Given the description of an element on the screen output the (x, y) to click on. 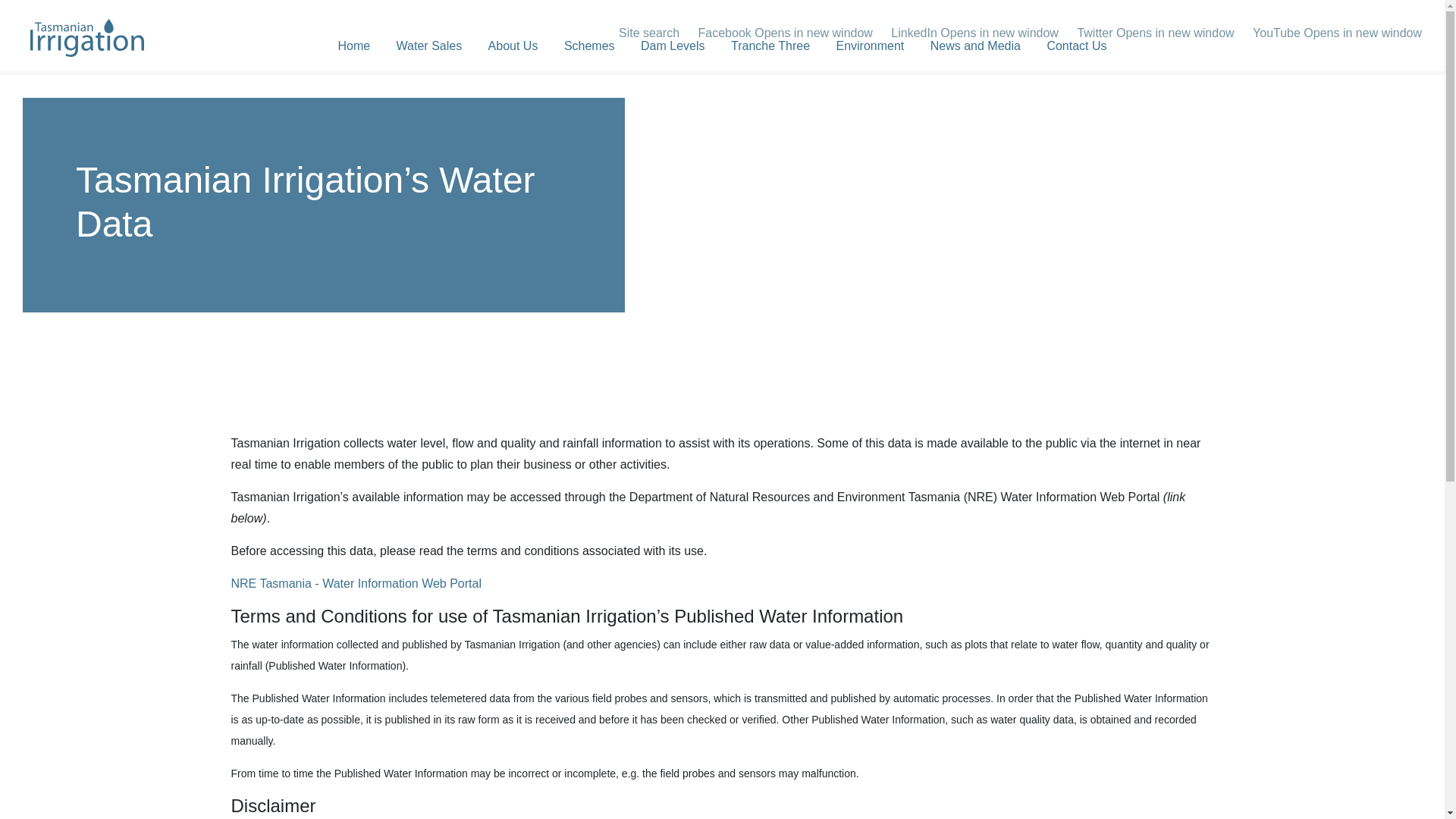
Environment (869, 45)
Home (353, 45)
About Us (513, 45)
Water Sales (429, 45)
Schemes (589, 45)
Dam Levels (672, 45)
Tranche Three (770, 45)
